Given the description of an element on the screen output the (x, y) to click on. 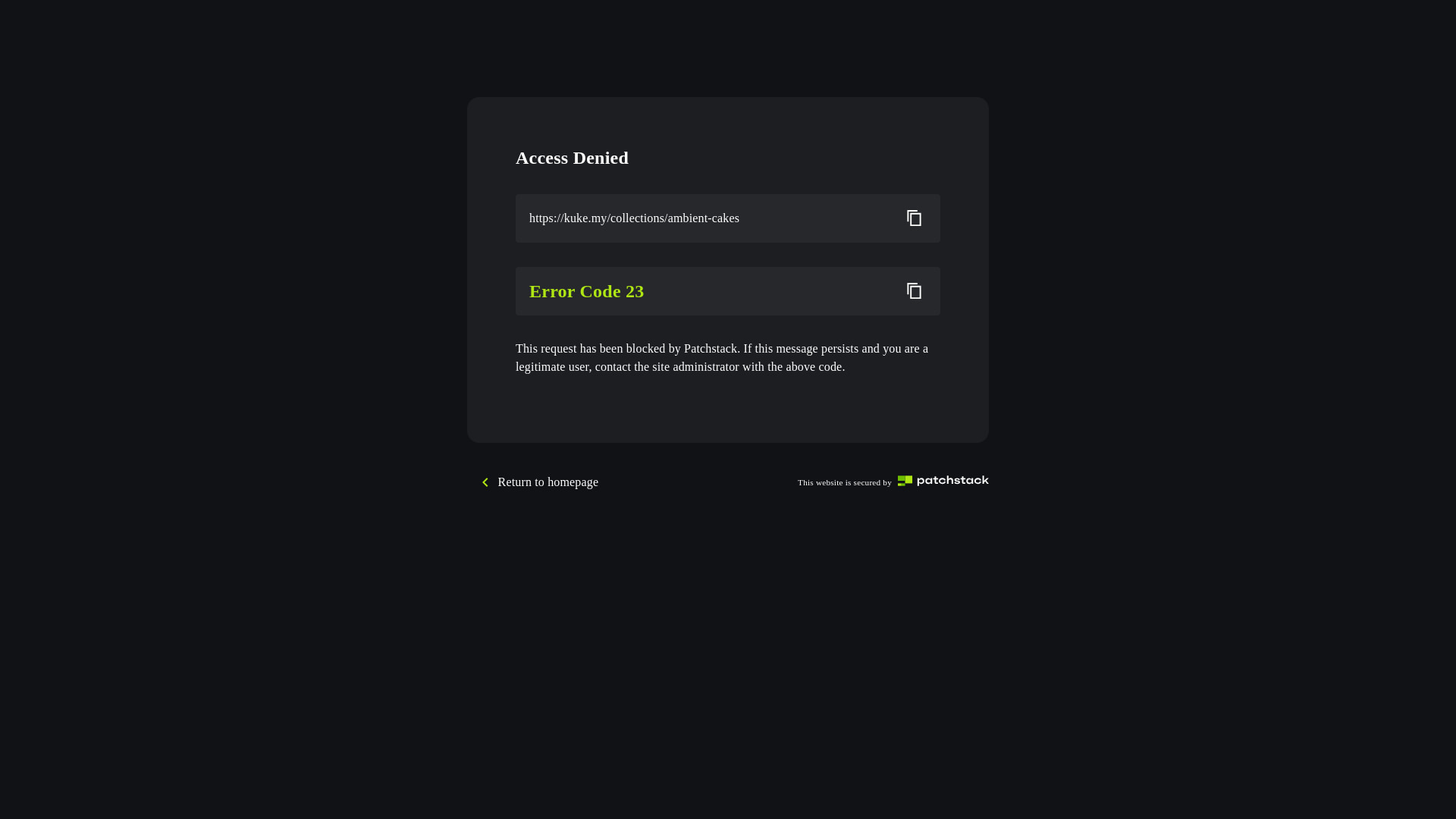
Error Code 23 (709, 290)
